Given the description of an element on the screen output the (x, y) to click on. 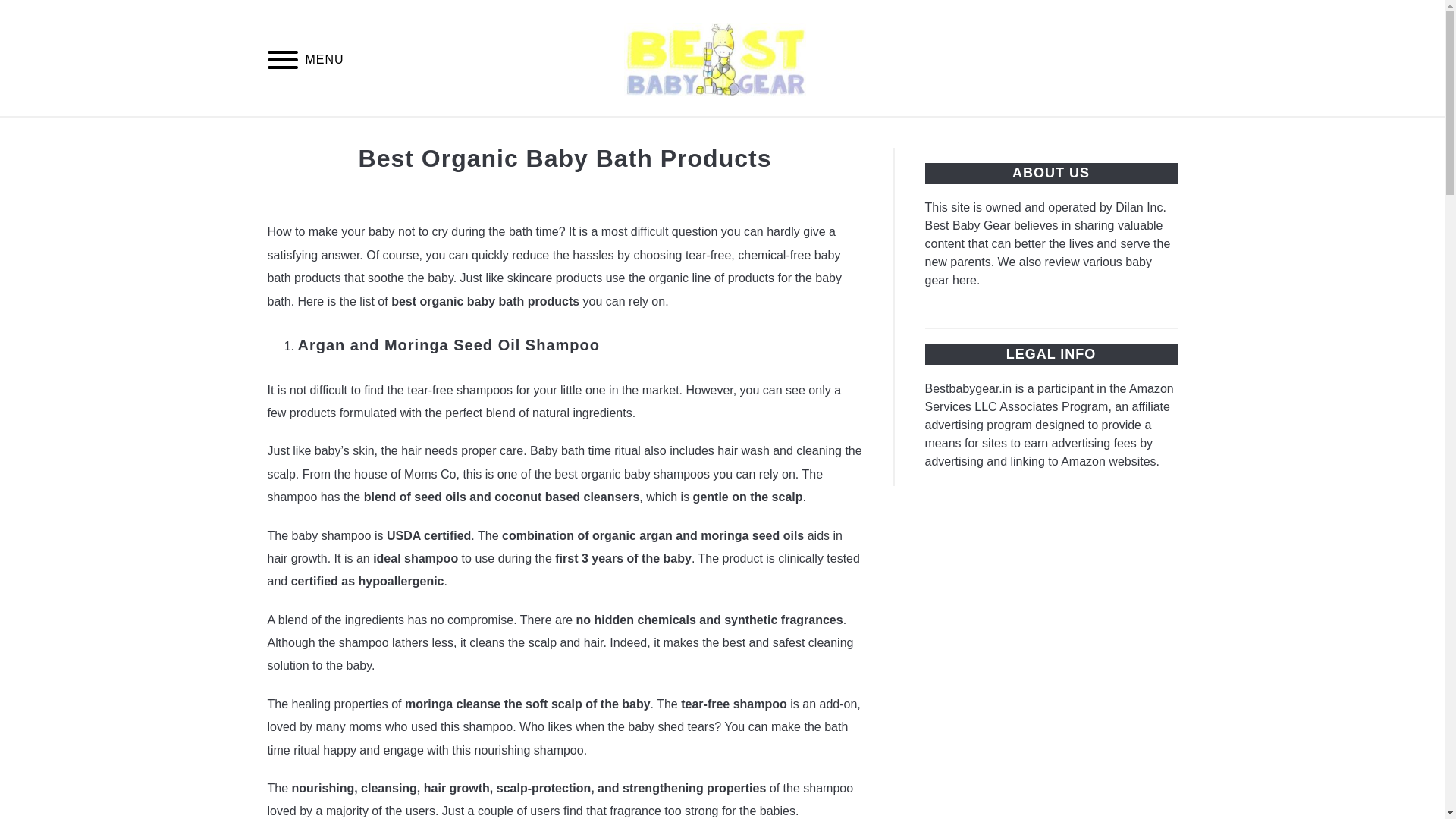
Search (1172, 58)
MENU (282, 61)
